Given the description of an element on the screen output the (x, y) to click on. 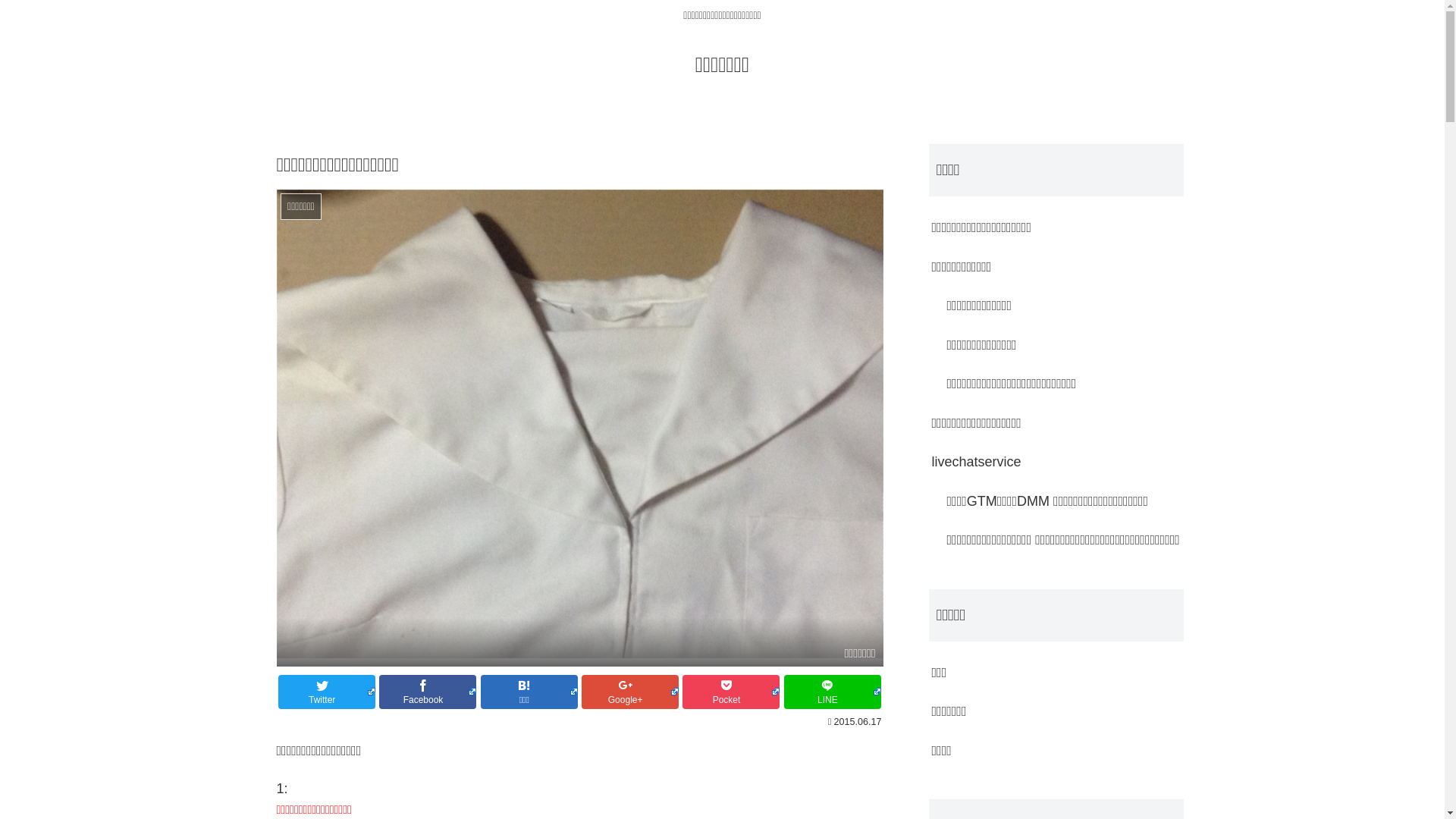
Google+ Element type: text (629, 691)
Facebook Element type: text (427, 691)
LINE Element type: text (832, 691)
Pocket Element type: text (730, 691)
Twitter Element type: text (326, 691)
livechatservice Element type: text (1055, 462)
